Given the description of an element on the screen output the (x, y) to click on. 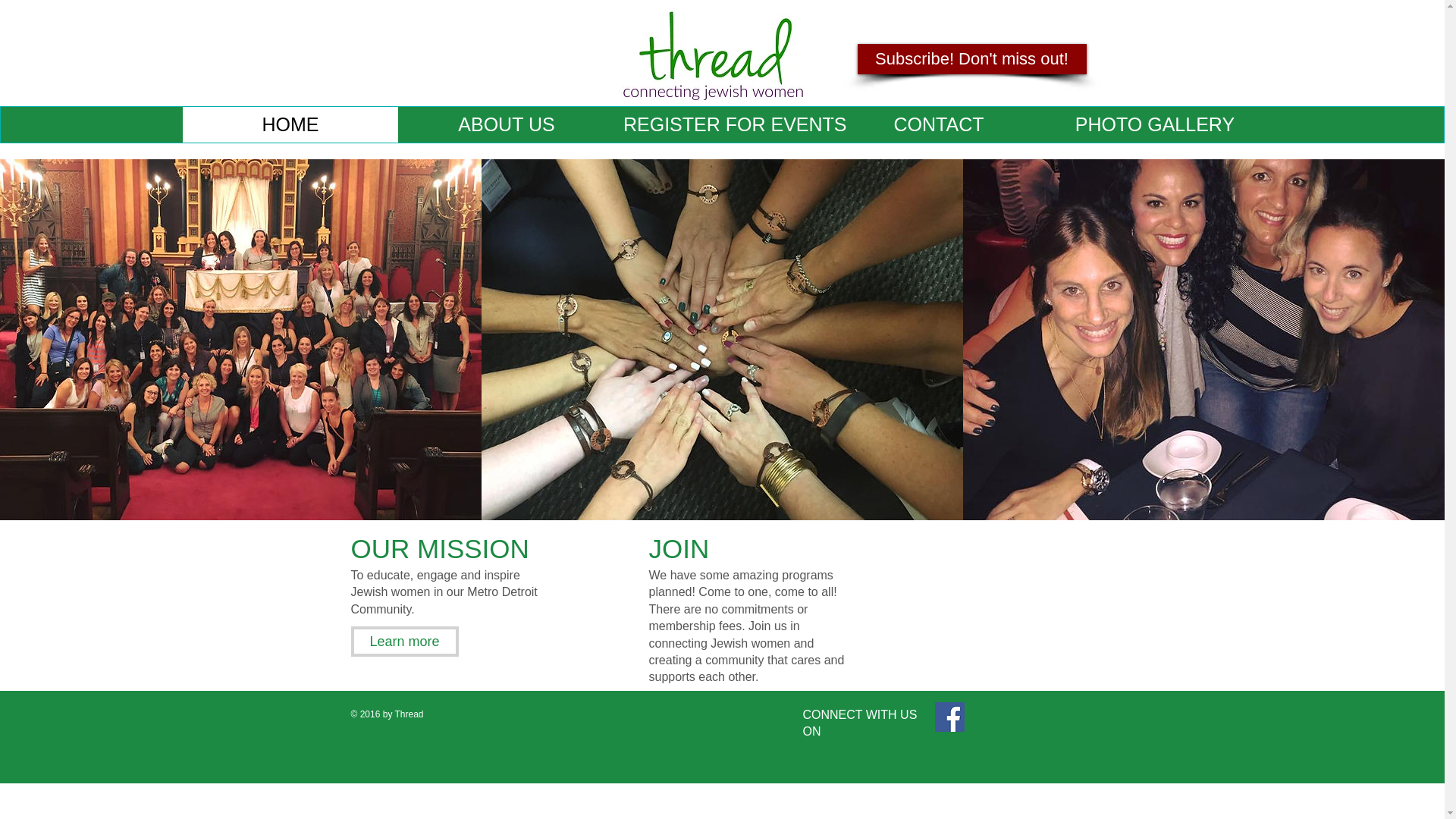
CONNECT WITH US ON (859, 722)
ABOUT US (505, 124)
Learn more (404, 641)
REGISTER FOR EVENTS (721, 124)
CONTACT (937, 124)
PHOTO GALLERY (1154, 124)
Subscribe! Don't miss out! (971, 59)
HOME (289, 124)
